Given the description of an element on the screen output the (x, y) to click on. 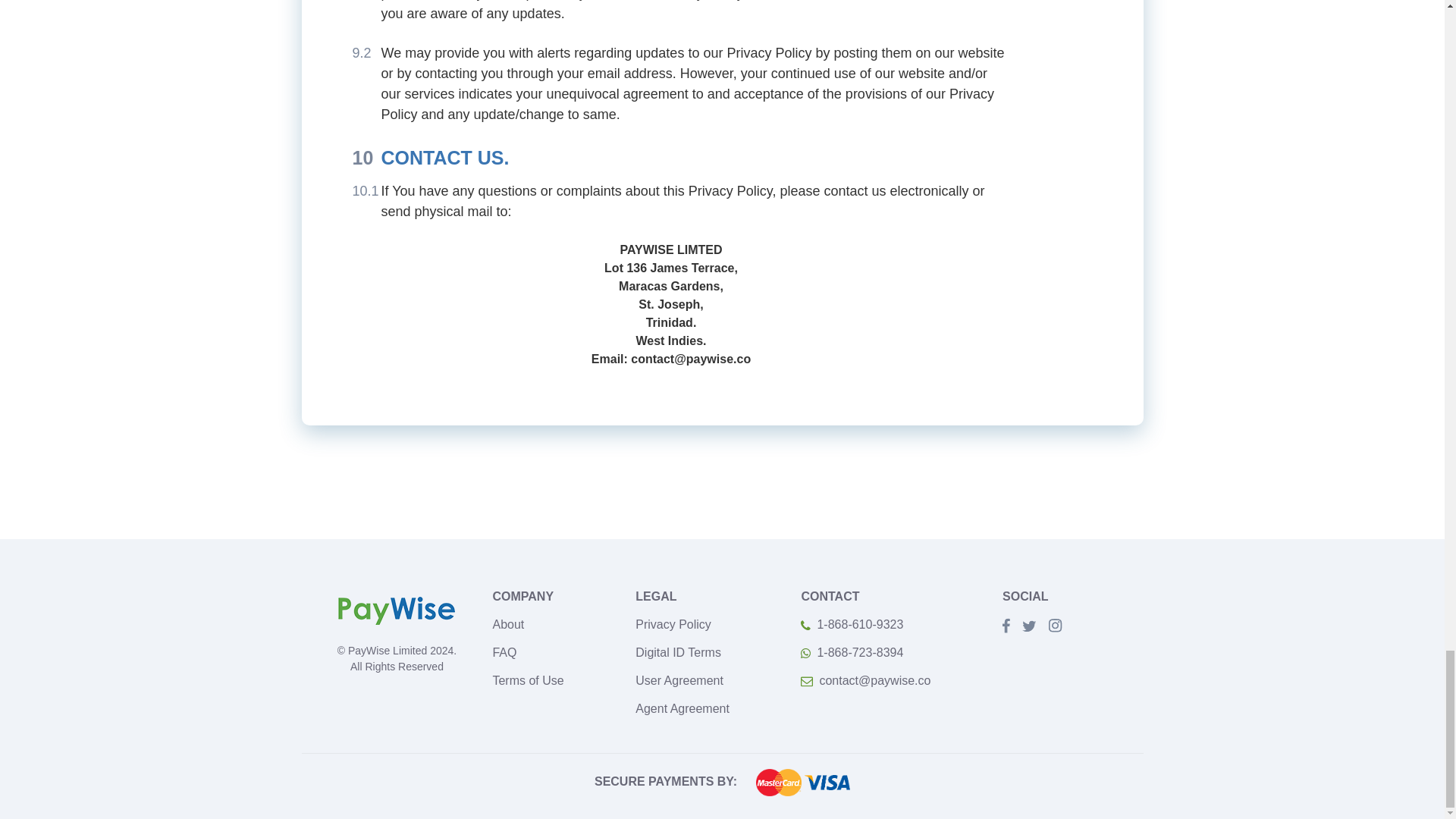
1-868-723-8394 (851, 652)
User Agreement (678, 680)
Privacy Policy (672, 624)
1-868-610-9323 (851, 624)
Digital ID Terms (677, 652)
Terms of Use (527, 680)
FAQ (504, 652)
Agent Agreement (681, 707)
About (508, 624)
